Given the description of an element on the screen output the (x, y) to click on. 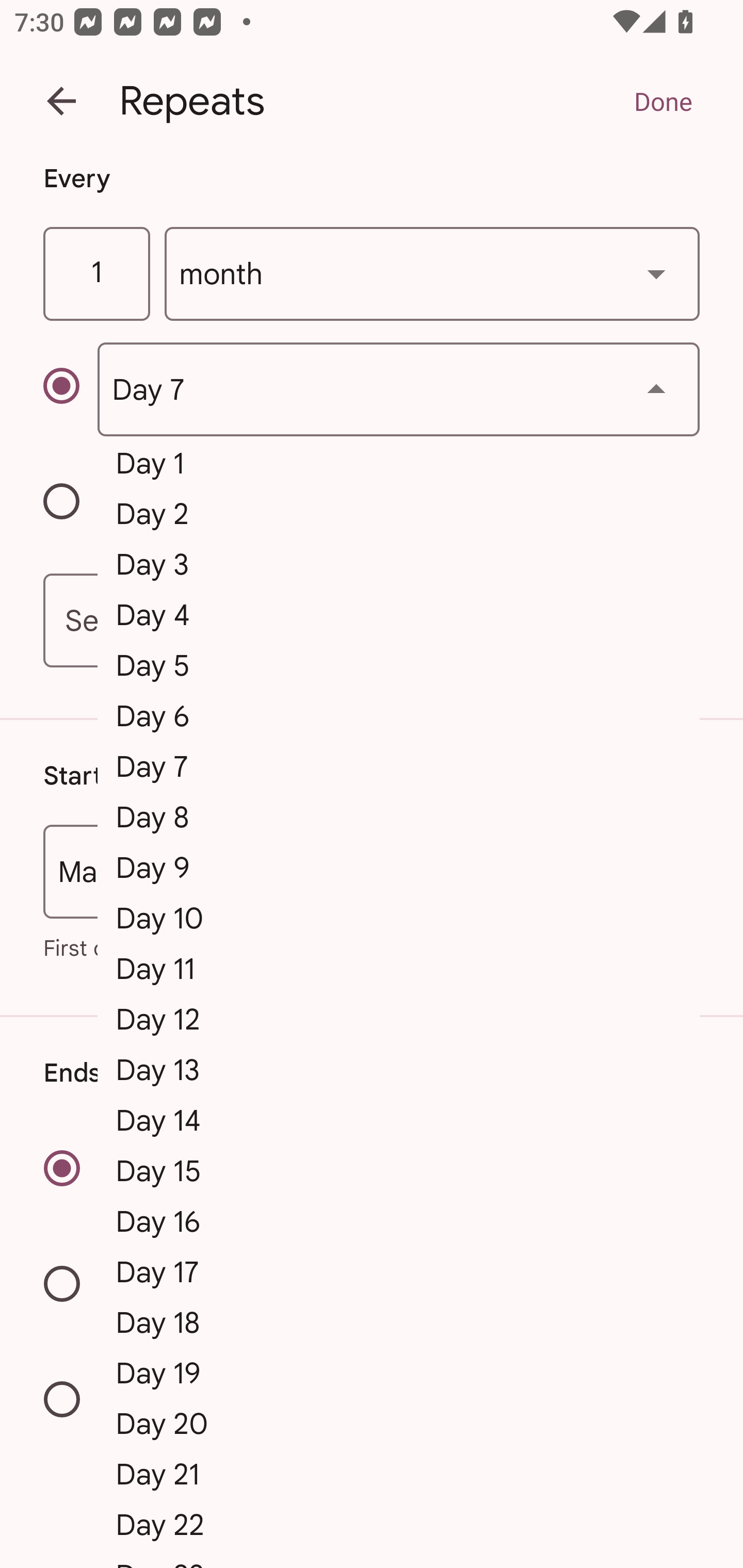
Back (61, 101)
Done (663, 101)
1 (96, 274)
month (431, 274)
Show dropdown menu (655, 273)
Day 7 (398, 388)
Show dropdown menu (655, 389)
Repeat monthly on a specific day of the month (70, 389)
